Given the description of an element on the screen output the (x, y) to click on. 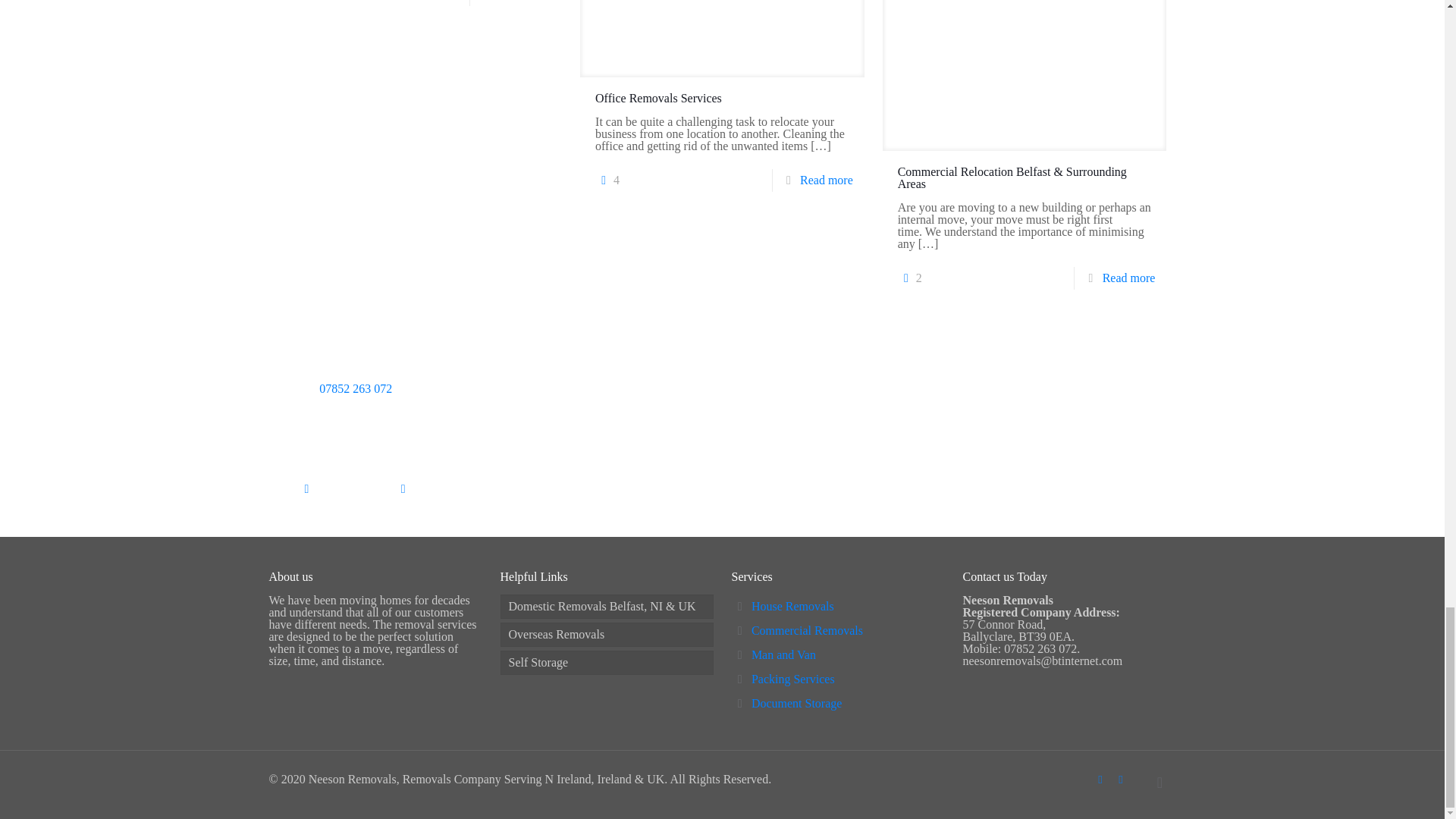
Read more (523, 0)
Office Removals Services (658, 97)
4 (607, 179)
Read more (826, 179)
Instagram (1121, 779)
Facebook (1100, 779)
3 (304, 2)
